Given the description of an element on the screen output the (x, y) to click on. 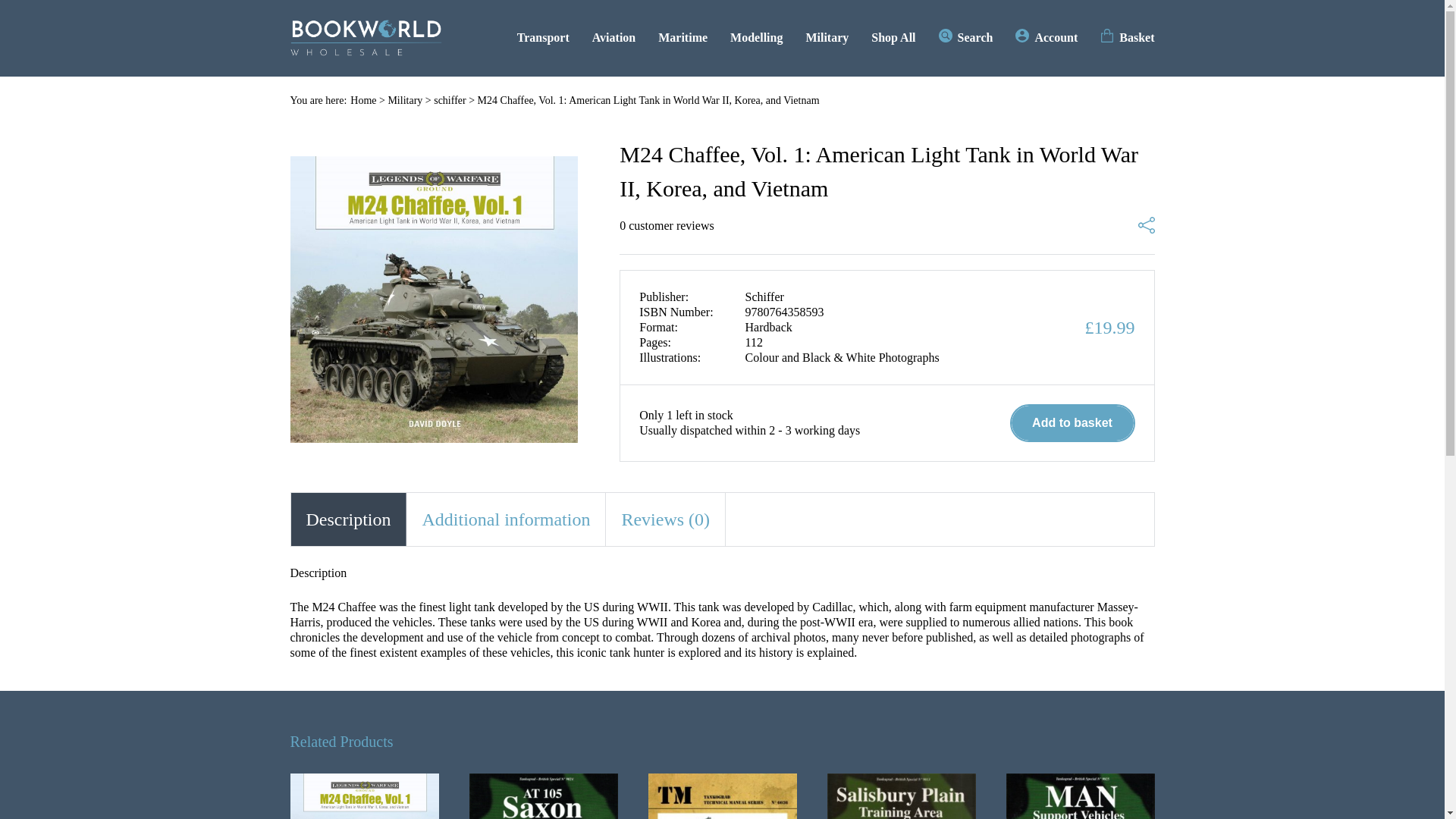
Shop All (892, 37)
Military (404, 100)
Additional information (505, 519)
Military (826, 37)
Home (362, 100)
Add to basket (1072, 423)
Search (965, 37)
Maritime (682, 37)
schiffer (449, 100)
Account (1045, 37)
Transport (542, 37)
Modelling (756, 37)
Description (349, 519)
Aviation (613, 37)
0 customer reviews (666, 225)
